Given the description of an element on the screen output the (x, y) to click on. 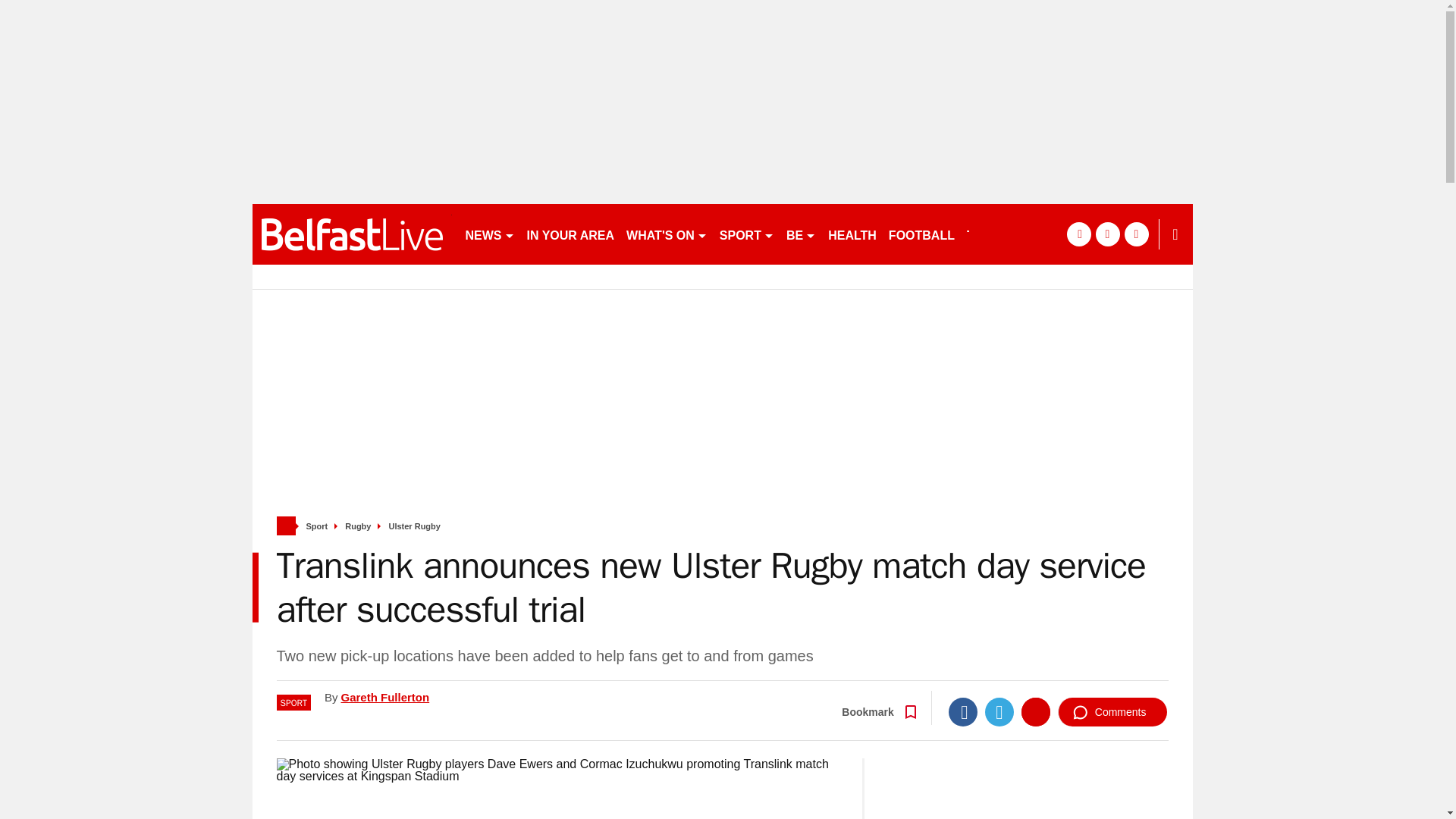
belfastlive (351, 233)
Comments (1112, 711)
NEWS (490, 233)
instagram (1136, 233)
Twitter (999, 711)
twitter (1106, 233)
IN YOUR AREA (569, 233)
Facebook (962, 711)
facebook (1077, 233)
SPORT (746, 233)
WHAT'S ON (666, 233)
